Given the description of an element on the screen output the (x, y) to click on. 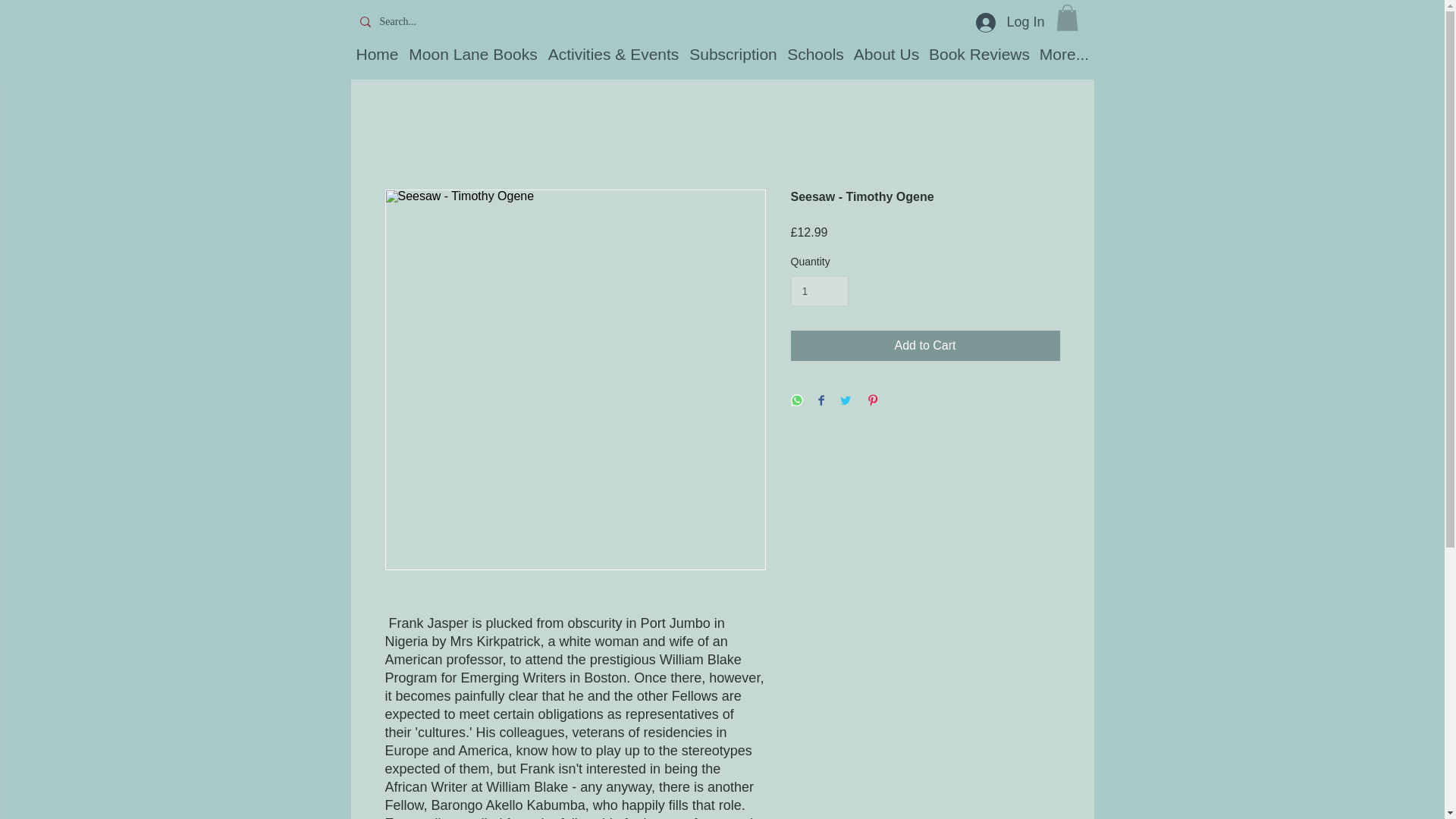
Schools (815, 53)
Add to Cart (924, 345)
1 (818, 291)
Book Reviews (979, 53)
Home (377, 53)
Log In (1009, 22)
Moon Lane Books (472, 53)
About Us (885, 53)
Subscription (733, 53)
